Given the description of an element on the screen output the (x, y) to click on. 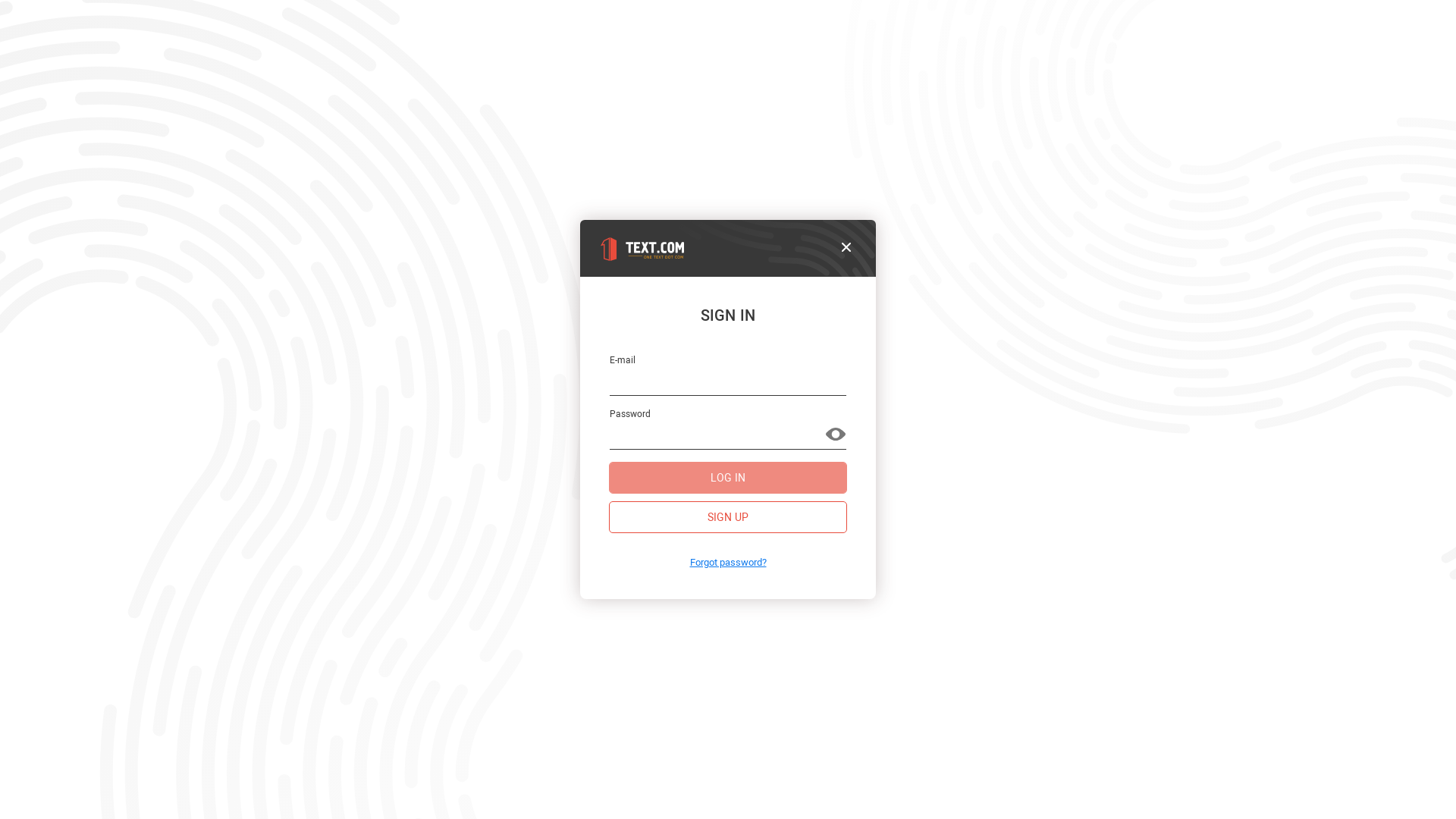
SIGN UP Element type: text (727, 517)
LOG IN Element type: text (727, 477)
Forgot password? Element type: text (728, 562)
